Given the description of an element on the screen output the (x, y) to click on. 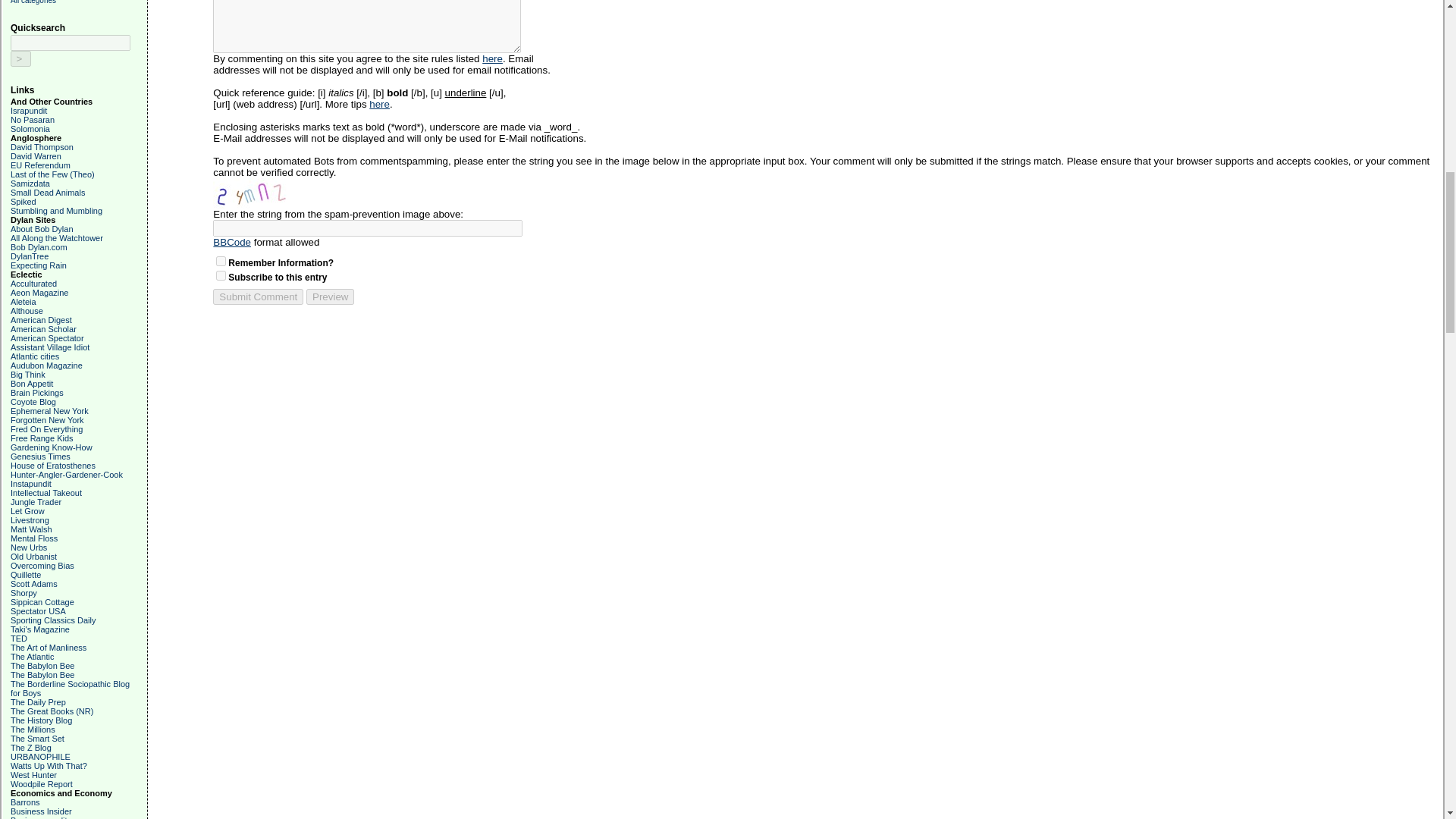
on (220, 275)
on (220, 261)
Submit Comment (257, 296)
Preview (329, 296)
